Given the description of an element on the screen output the (x, y) to click on. 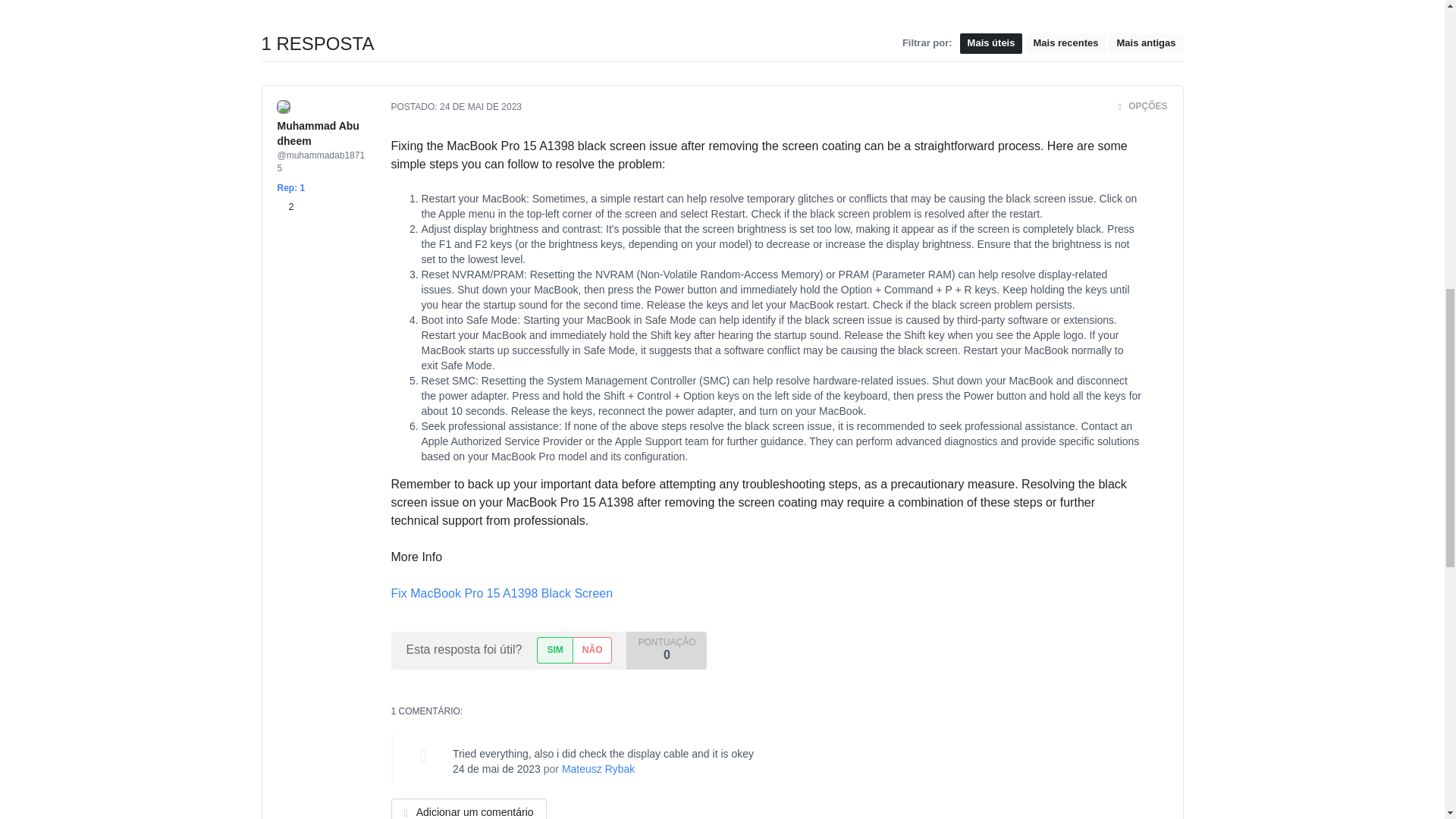
Mais antigas (1145, 43)
Mais recentes (1065, 43)
Fix MacBook Pro 15 A1398 Black Screen (501, 593)
Wed, 24 May 2023 05:28:45 -0700 (496, 768)
2 emblemas de Bronze (286, 206)
POSTADO: 24 DE MAI DE 2023 (456, 106)
SIM (554, 650)
2 (286, 206)
Wed, 24 May 2023 05:18:31 -0700 (480, 106)
